Given the description of an element on the screen output the (x, y) to click on. 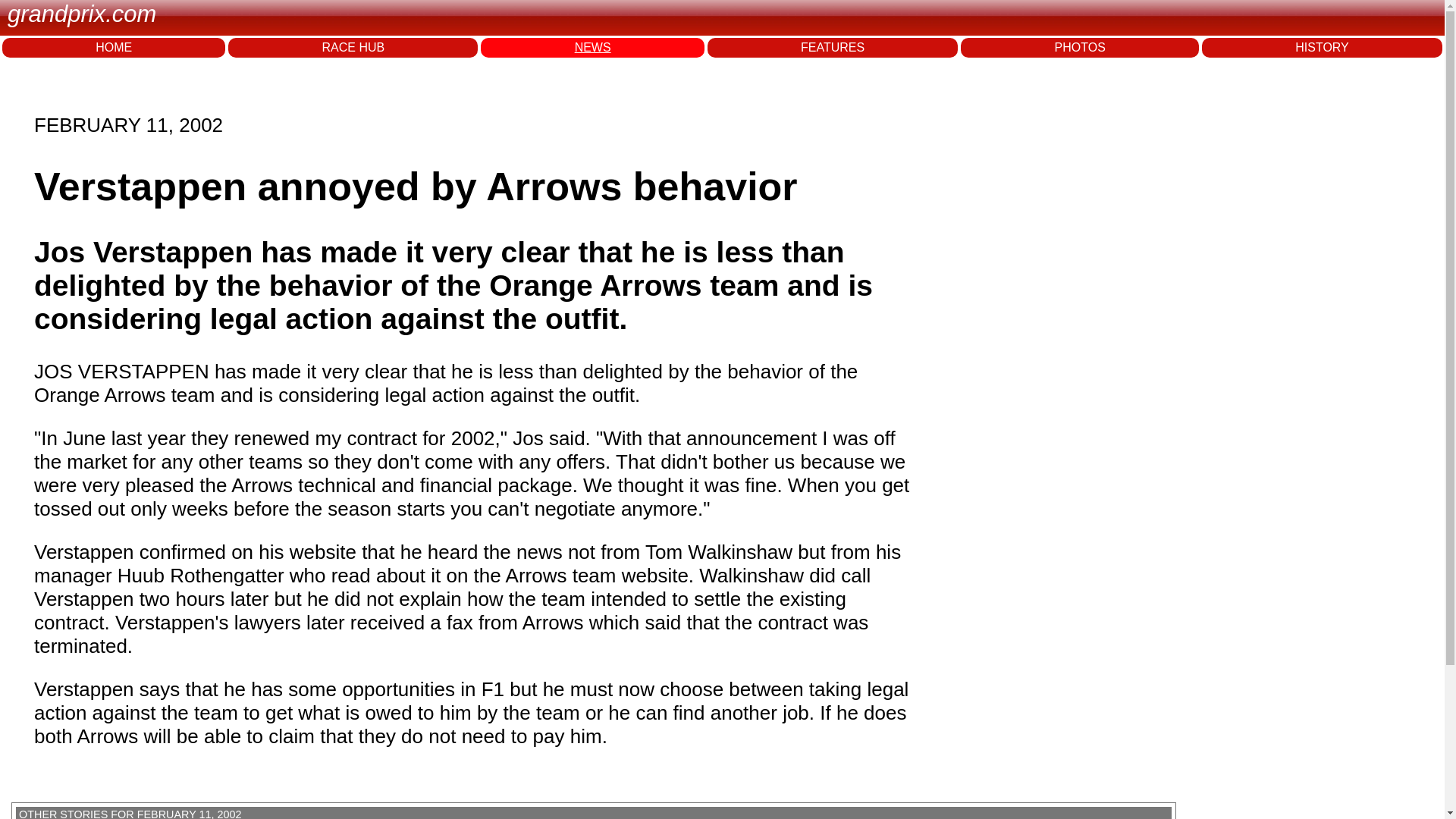
PHOTOS (1079, 47)
RACE HUB (352, 47)
HOME (113, 47)
FEATURES (832, 47)
HISTORY (1322, 47)
NEWS (591, 47)
